Given the description of an element on the screen output the (x, y) to click on. 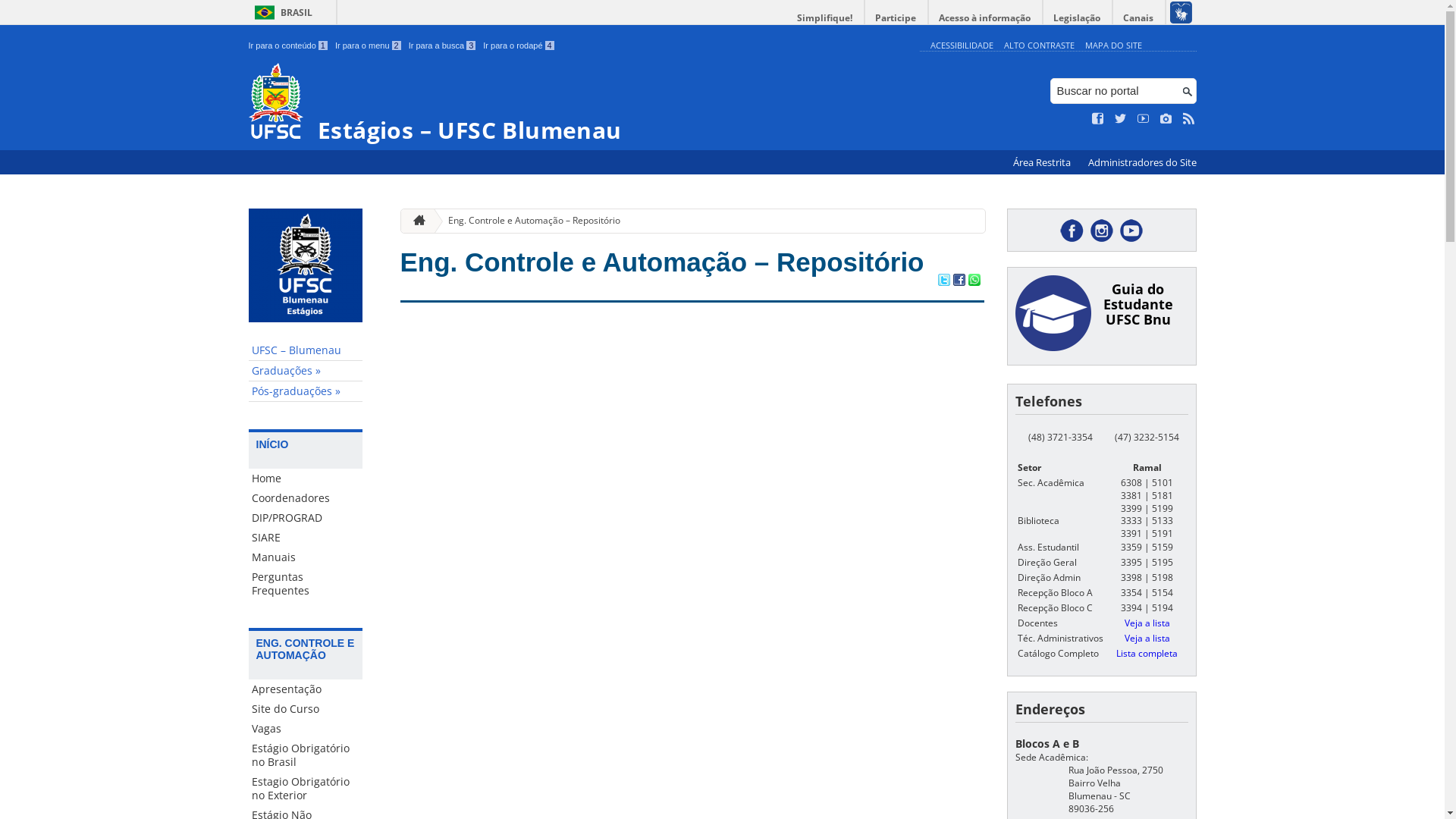
Ir para o menu 2 Element type: text (368, 45)
DIP/PROGRAD Element type: text (305, 517)
Participe Element type: text (895, 18)
ACESSIBILIDADE Element type: text (960, 44)
Compartilhar no Twitter Element type: hover (943, 280)
Curta no Facebook Element type: hover (1098, 118)
Vagas Element type: text (305, 728)
Manuais Element type: text (305, 557)
Veja no Instagram Element type: hover (1166, 118)
Coordenadores Element type: text (305, 498)
Siga no Twitter Element type: hover (1120, 118)
BRASIL Element type: text (280, 12)
Home Element type: text (305, 478)
Ir para a busca 3 Element type: text (442, 45)
Site do Curso Element type: text (305, 708)
SIARE Element type: text (305, 537)
Veja a lista Element type: text (1146, 637)
Compartilhar no Facebook Element type: hover (958, 280)
Guia do Estudante UFSC Bnu Element type: text (1138, 303)
Simplifique! Element type: text (825, 18)
Compartilhar no WhatsApp Element type: hover (973, 280)
Administradores do Site Element type: text (1141, 162)
Canais Element type: text (1138, 18)
Perguntas Frequentes Element type: text (305, 583)
Veja a lista Element type: text (1146, 622)
ALTO CONTRASTE Element type: text (1039, 44)
MAPA DO SITE Element type: text (1112, 44)
Lista completa Element type: text (1146, 652)
